Given the description of an element on the screen output the (x, y) to click on. 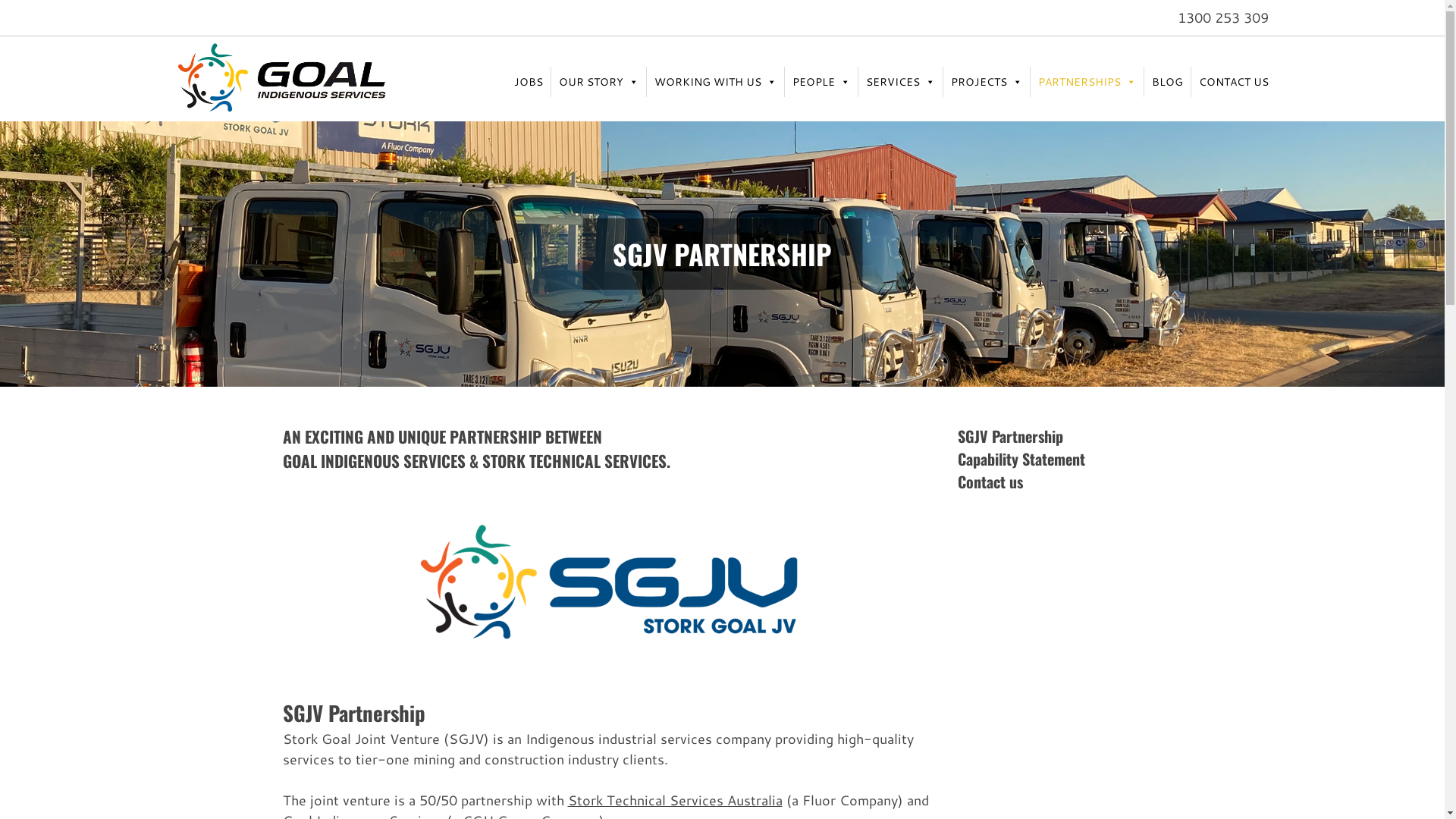
CONTACT US Element type: text (1232, 81)
Stork Technical Services Australia Element type: text (674, 799)
SERVICES Element type: text (900, 81)
JOBS Element type: text (528, 81)
Capability Statement Element type: text (1020, 458)
Contact us Element type: text (989, 481)
1300 253 309 Element type: text (1225, 17)
SGJV Partnership Element type: text (1009, 435)
PARTNERSHIPS Element type: text (1085, 81)
OUR STORY Element type: text (597, 81)
PROJECTS Element type: text (986, 81)
PEOPLE Element type: text (820, 81)
WORKING WITH US Element type: text (714, 81)
BLOG Element type: text (1166, 81)
SGJV Partnership 1 Element type: hover (612, 582)
